Given the description of an element on the screen output the (x, y) to click on. 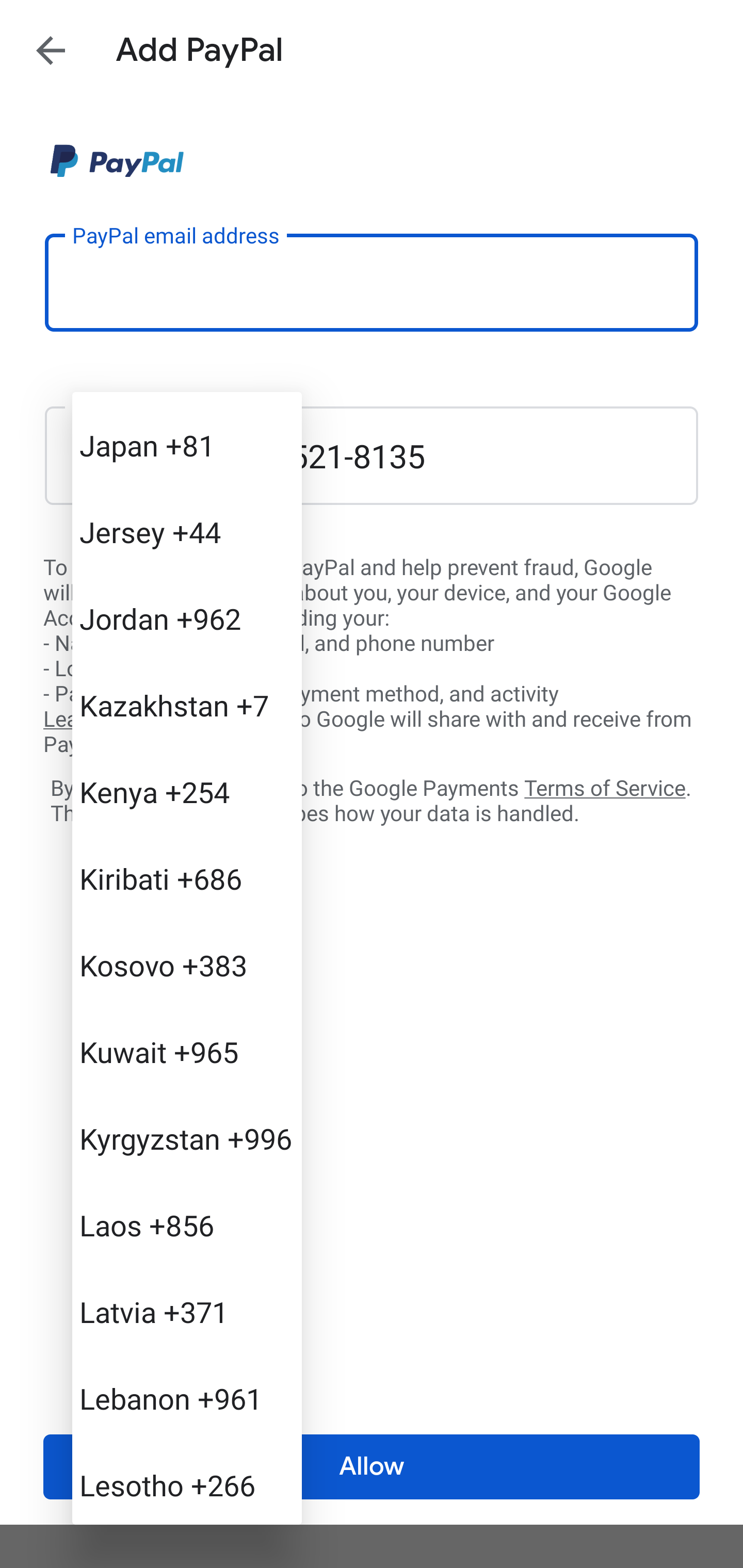
Japan +81 (186, 445)
Jersey +44 (186, 532)
Jordan +962 (186, 618)
Kazakhstan +7 (186, 704)
Kenya +254 (186, 791)
Kiribati +686 (186, 878)
Kosovo +383 (186, 964)
Kuwait +965 (186, 1051)
Kyrgyzstan +996 (186, 1138)
Laos +856 (186, 1225)
Latvia +371 (186, 1311)
Lebanon +961 (186, 1397)
Lesotho +266 (186, 1482)
